Given the description of an element on the screen output the (x, y) to click on. 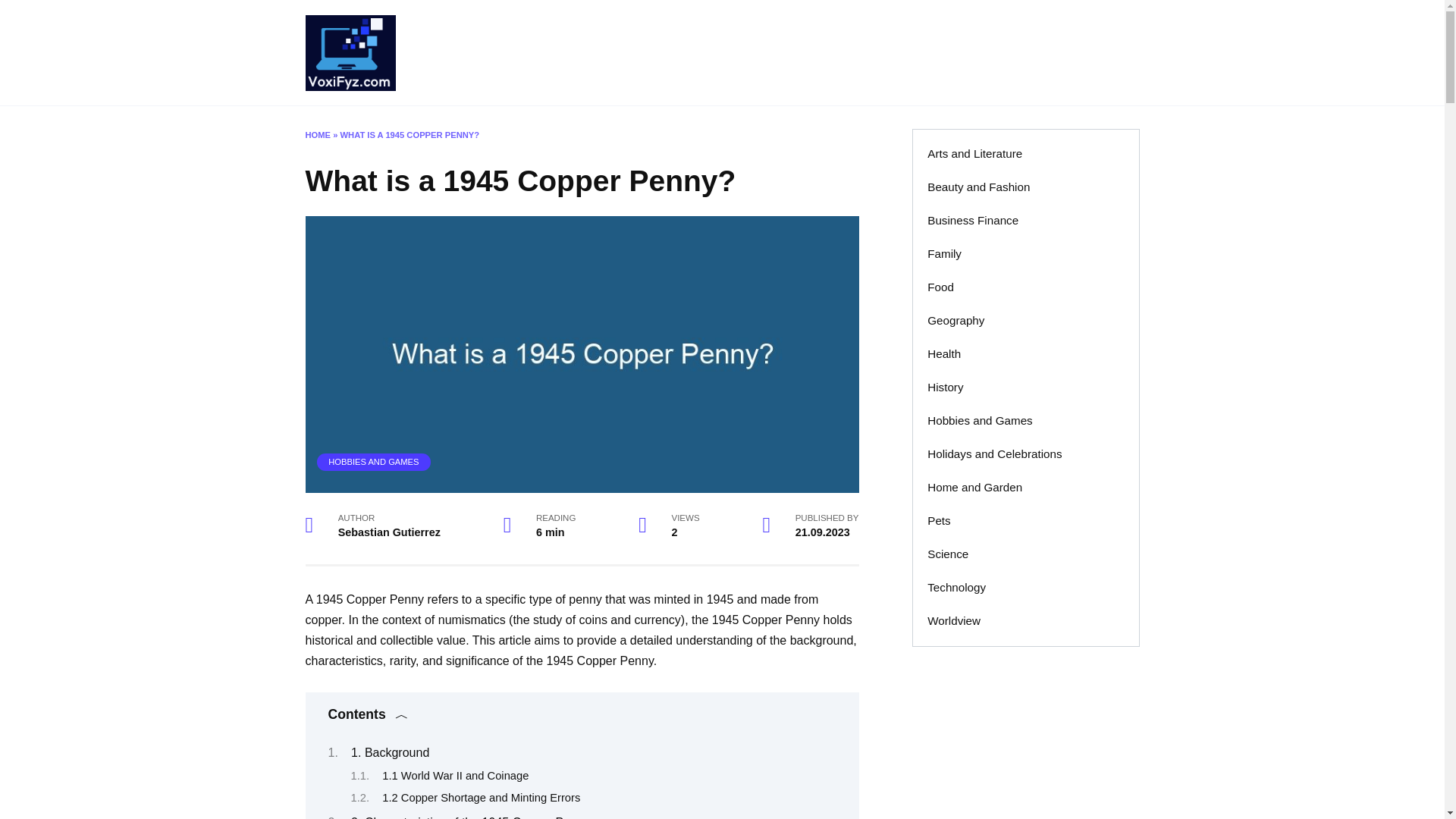
1.1 World War II and Coinage (454, 775)
1.2 Copper Shortage and Minting Errors (480, 797)
HOME (317, 134)
1. Background (389, 752)
2. Characteristics of the 1945 Copper Penny (469, 817)
HOBBIES AND GAMES (374, 461)
